Given the description of an element on the screen output the (x, y) to click on. 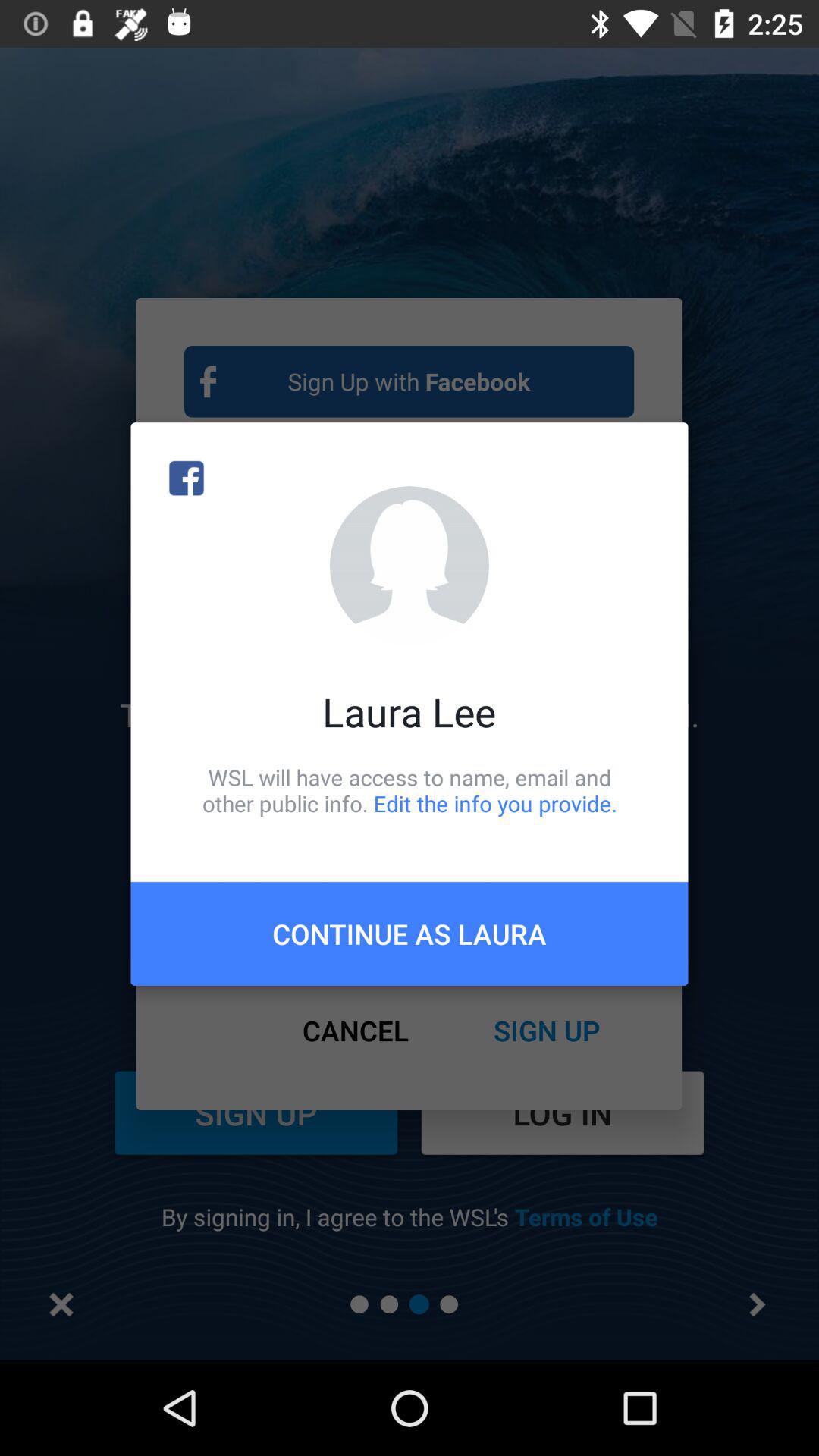
turn on wsl will have item (409, 790)
